Given the description of an element on the screen output the (x, y) to click on. 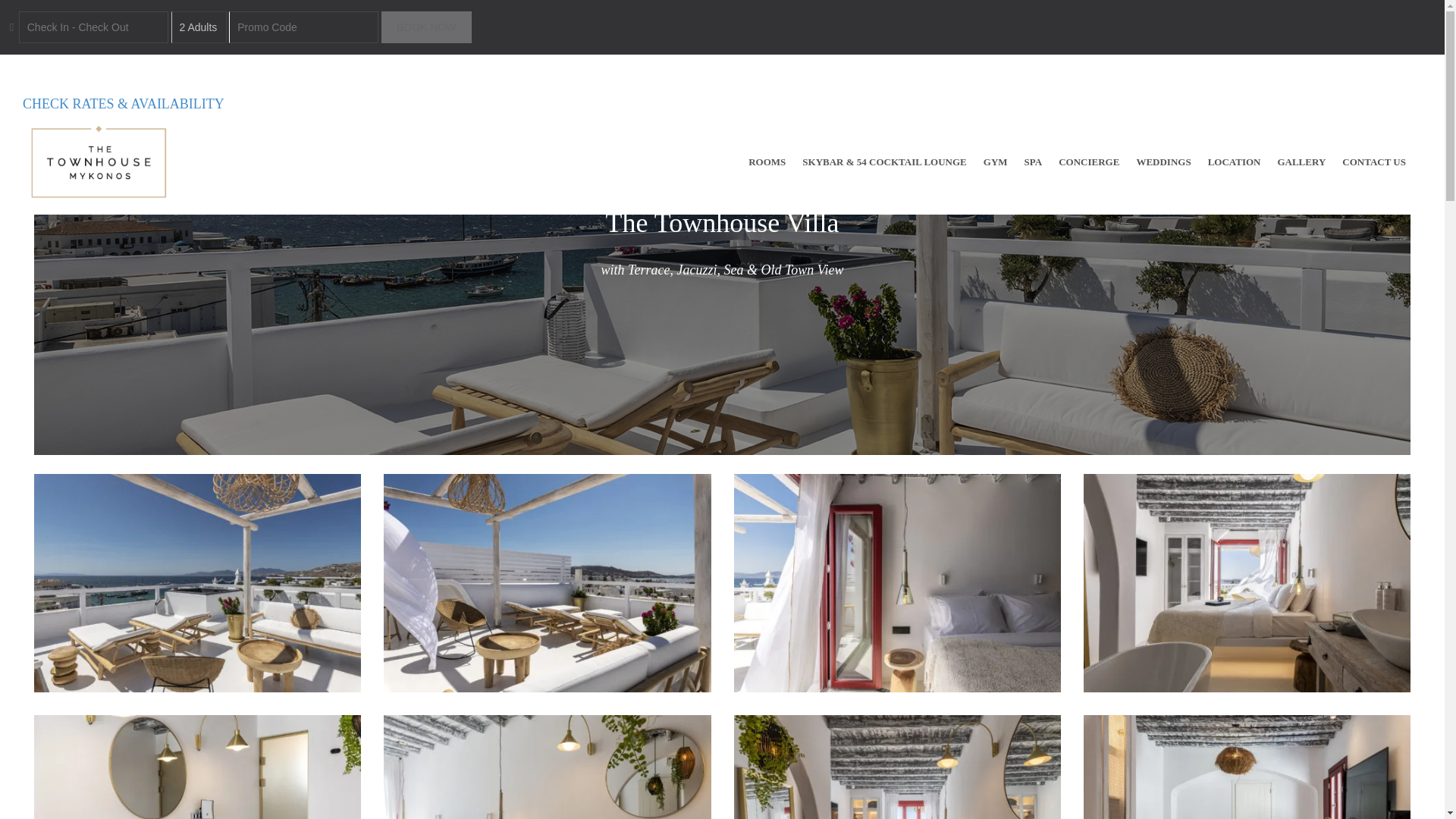
Enlarge Image (897, 766)
GALLERY (1300, 161)
Enlarge Image (547, 766)
GYM (995, 161)
BOOK NOW (426, 27)
Enlarge Image (547, 583)
Enlarge Image (197, 583)
SPA (1033, 161)
Enlarge Image (1246, 583)
Enlarge Image (897, 583)
